Given the description of an element on the screen output the (x, y) to click on. 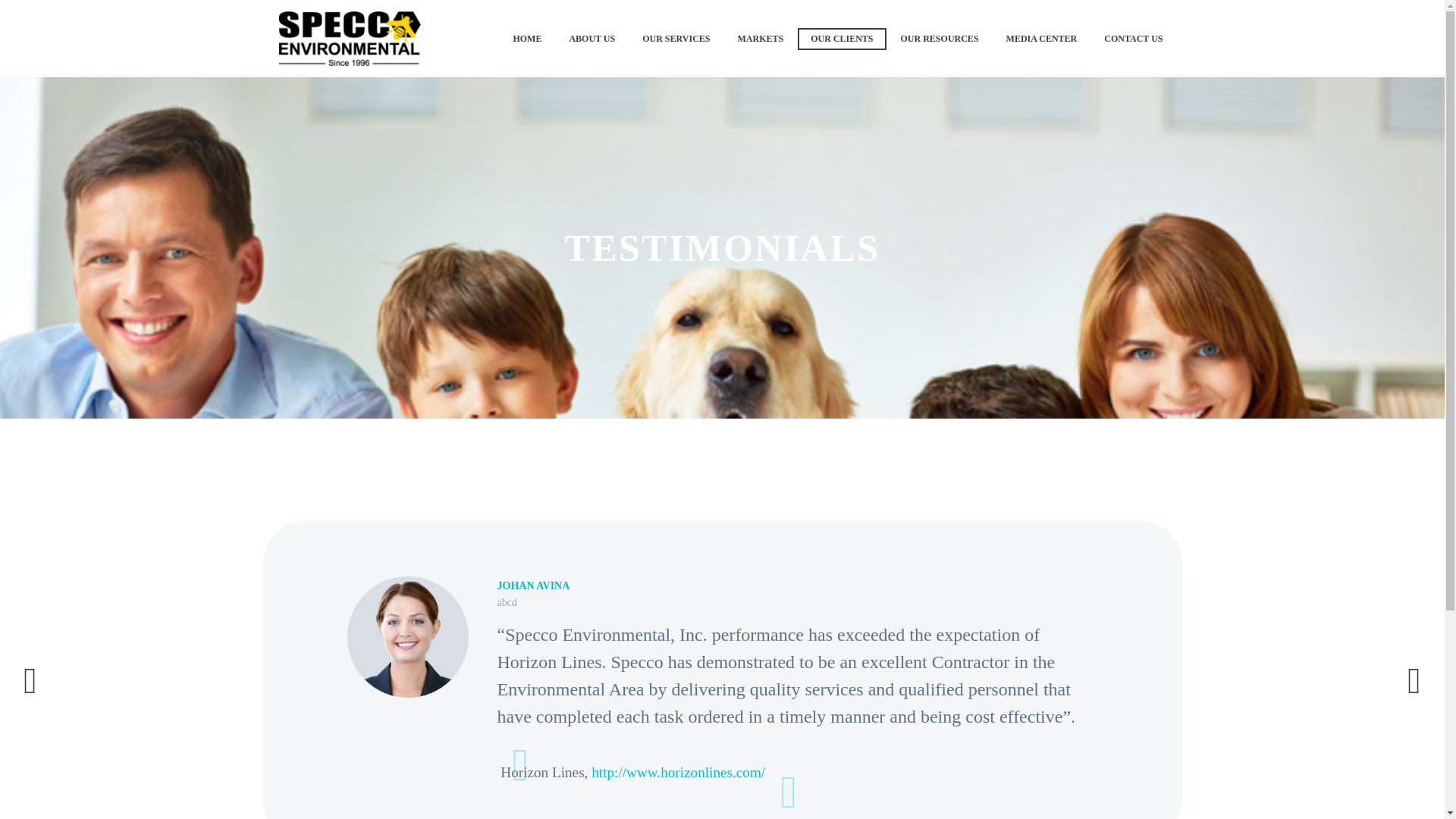
ABOUT US (591, 38)
HOME (526, 38)
OUR SERVICES (675, 38)
MARKETS (759, 38)
OUR CLIENTS (841, 38)
